Given the description of an element on the screen output the (x, y) to click on. 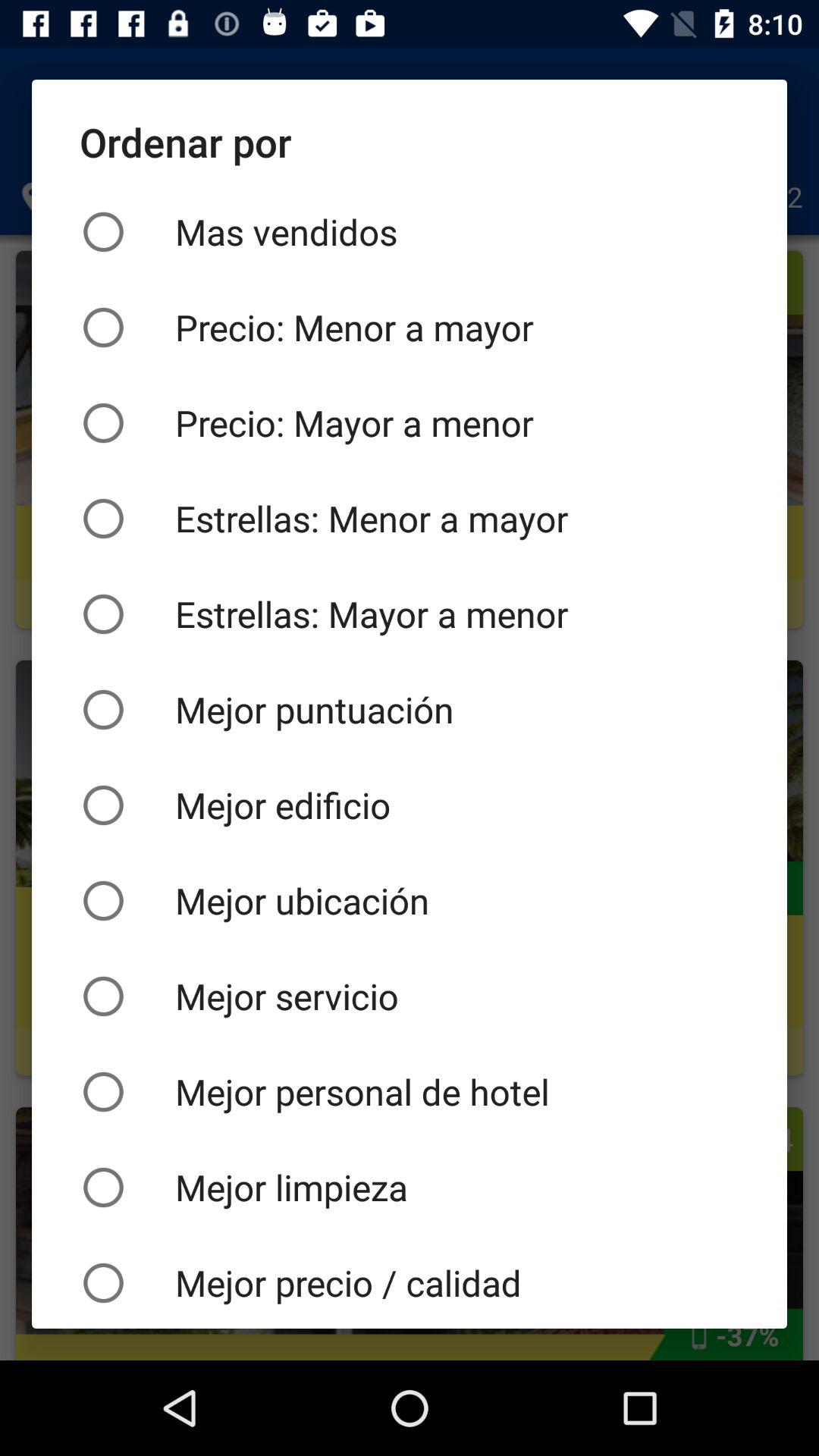
flip until the mas vendidos (409, 231)
